Given the description of an element on the screen output the (x, y) to click on. 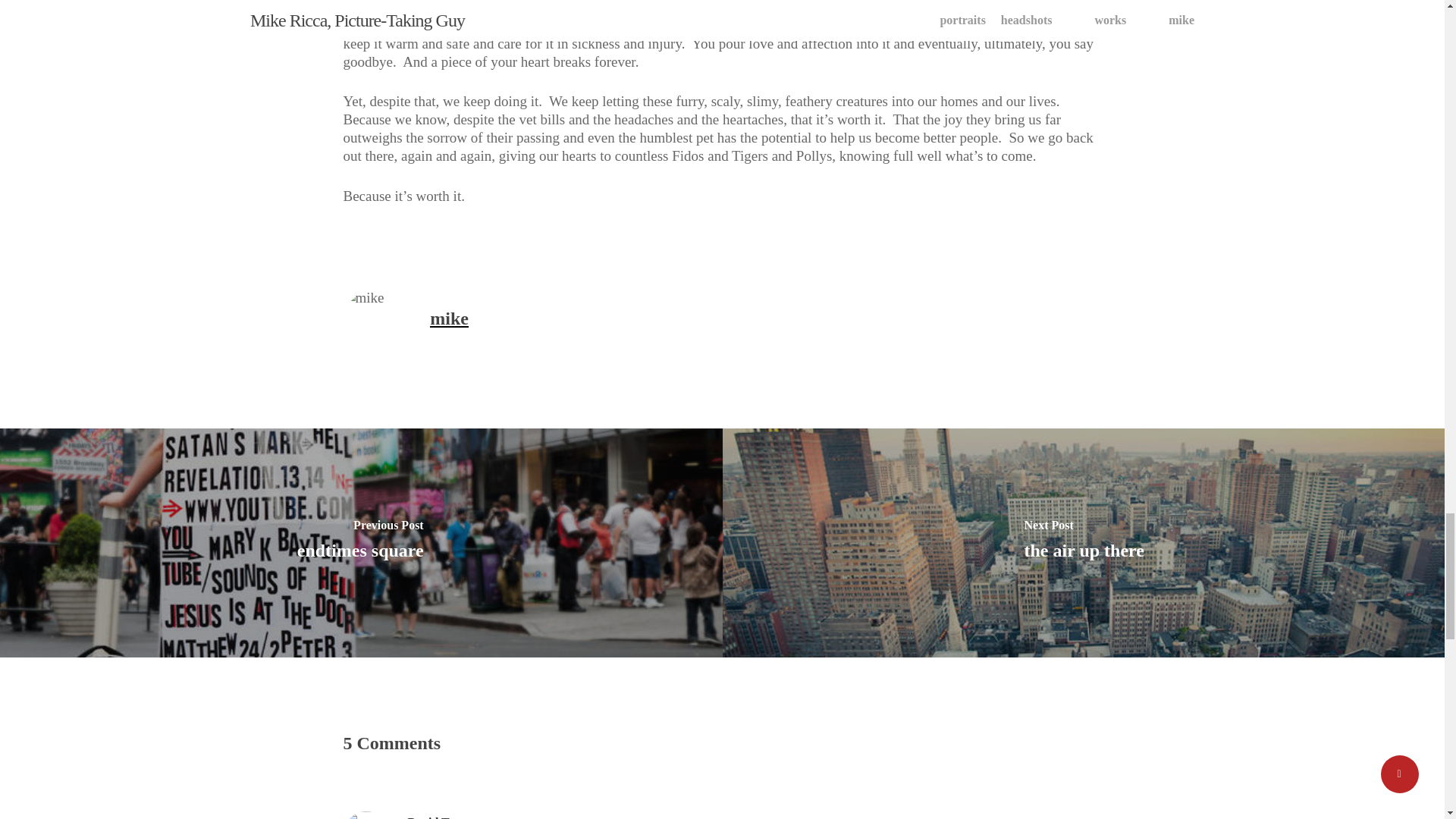
mike (448, 318)
David Tong (437, 817)
